Given the description of an element on the screen output the (x, y) to click on. 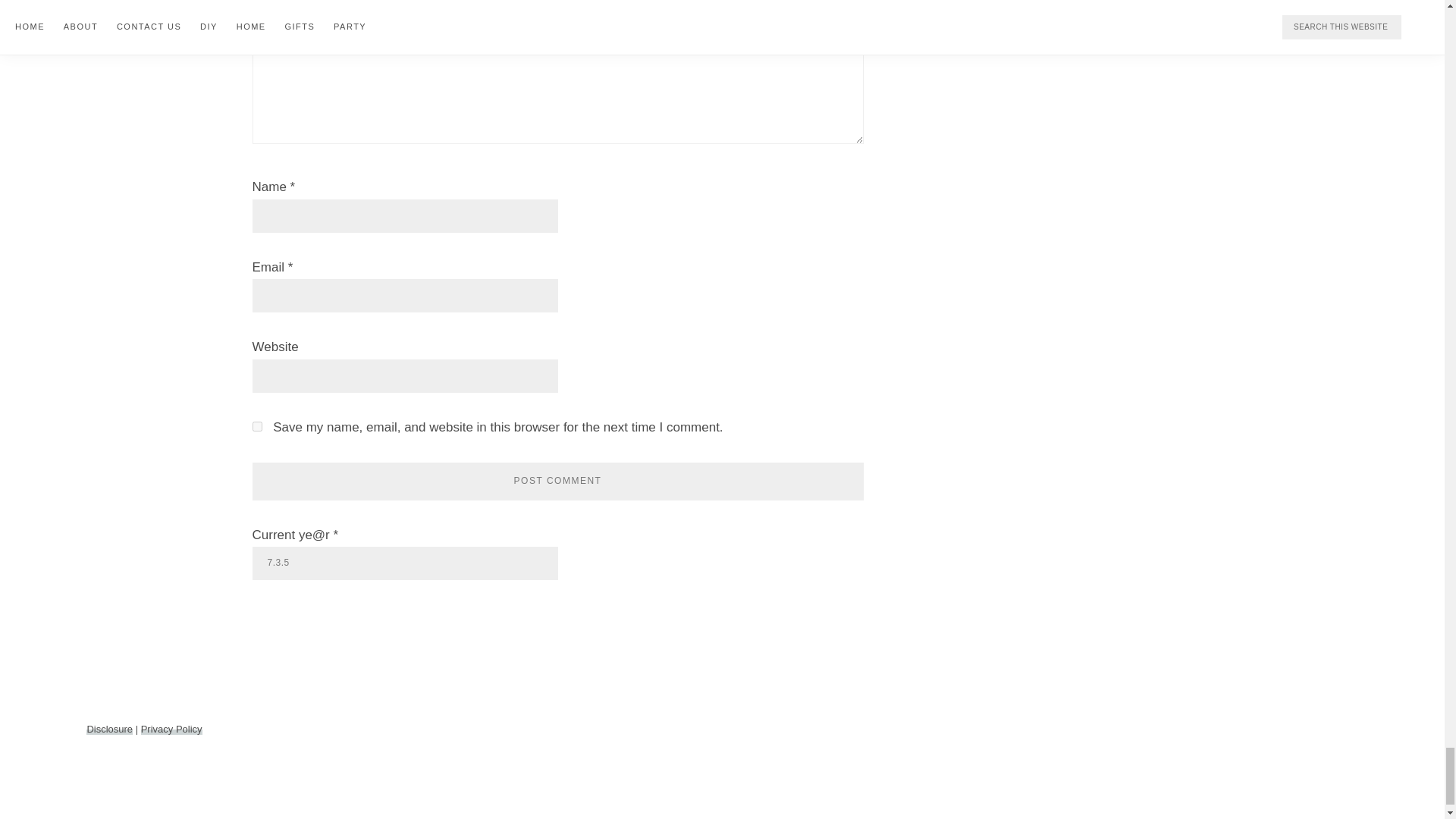
yes (256, 426)
Post Comment (557, 481)
7.3.5 (404, 563)
